Given the description of an element on the screen output the (x, y) to click on. 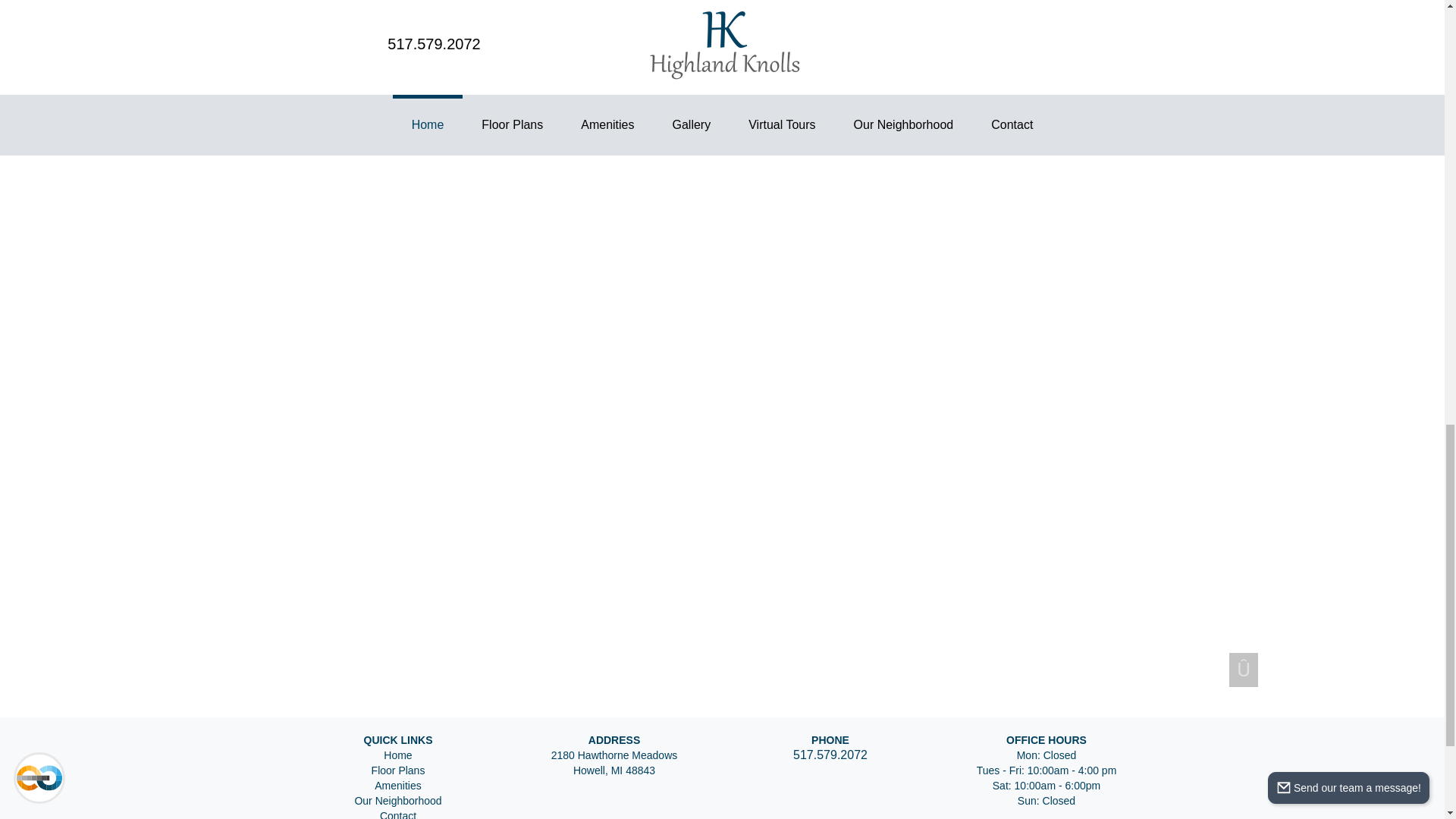
Amenities (397, 785)
Home (398, 755)
Our Neighborhood (397, 800)
NOW LEASING (722, 47)
Floor Plans (398, 770)
517.579.2072 (830, 755)
